Given the description of an element on the screen output the (x, y) to click on. 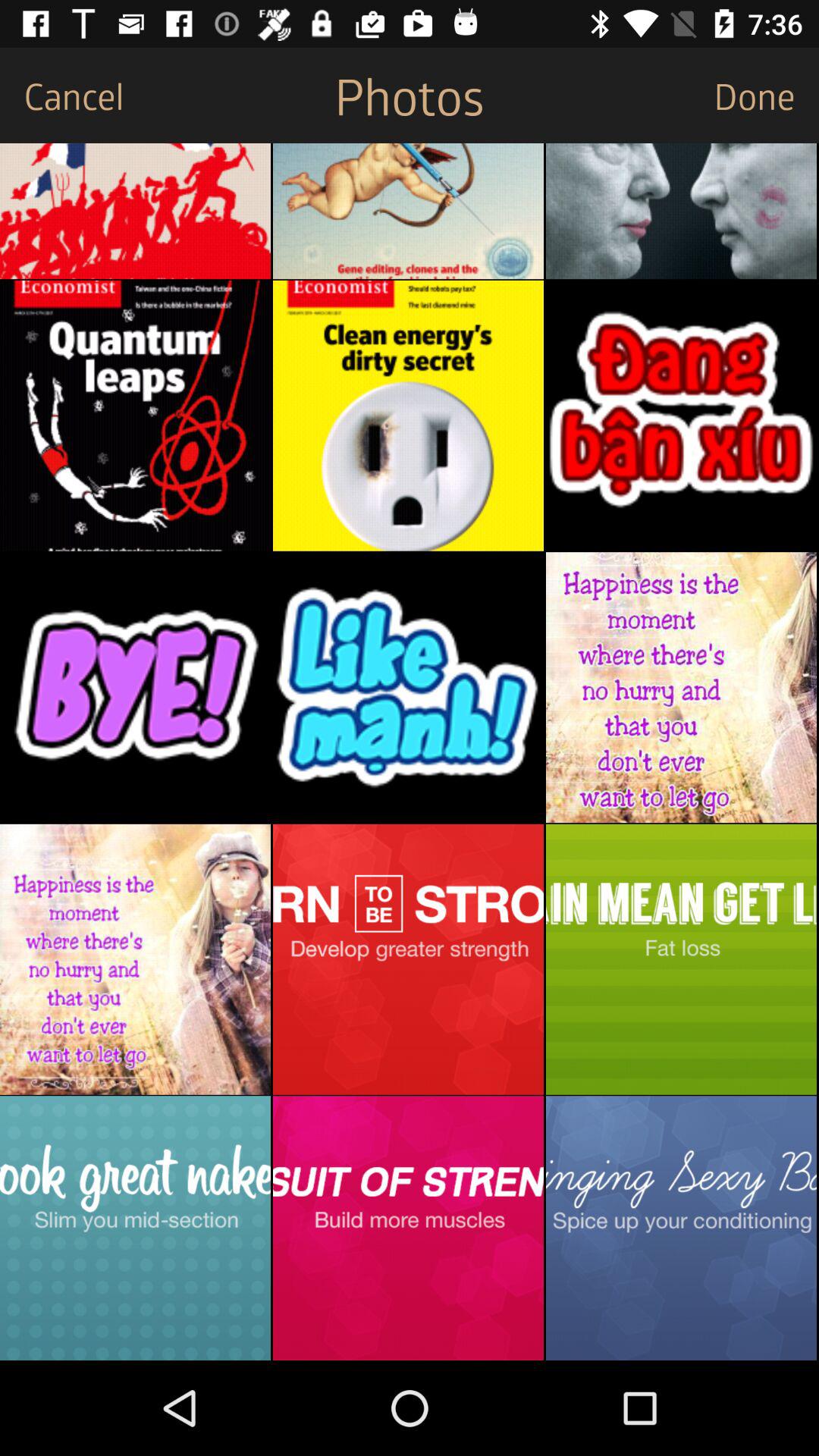
choose (408, 959)
